Given the description of an element on the screen output the (x, y) to click on. 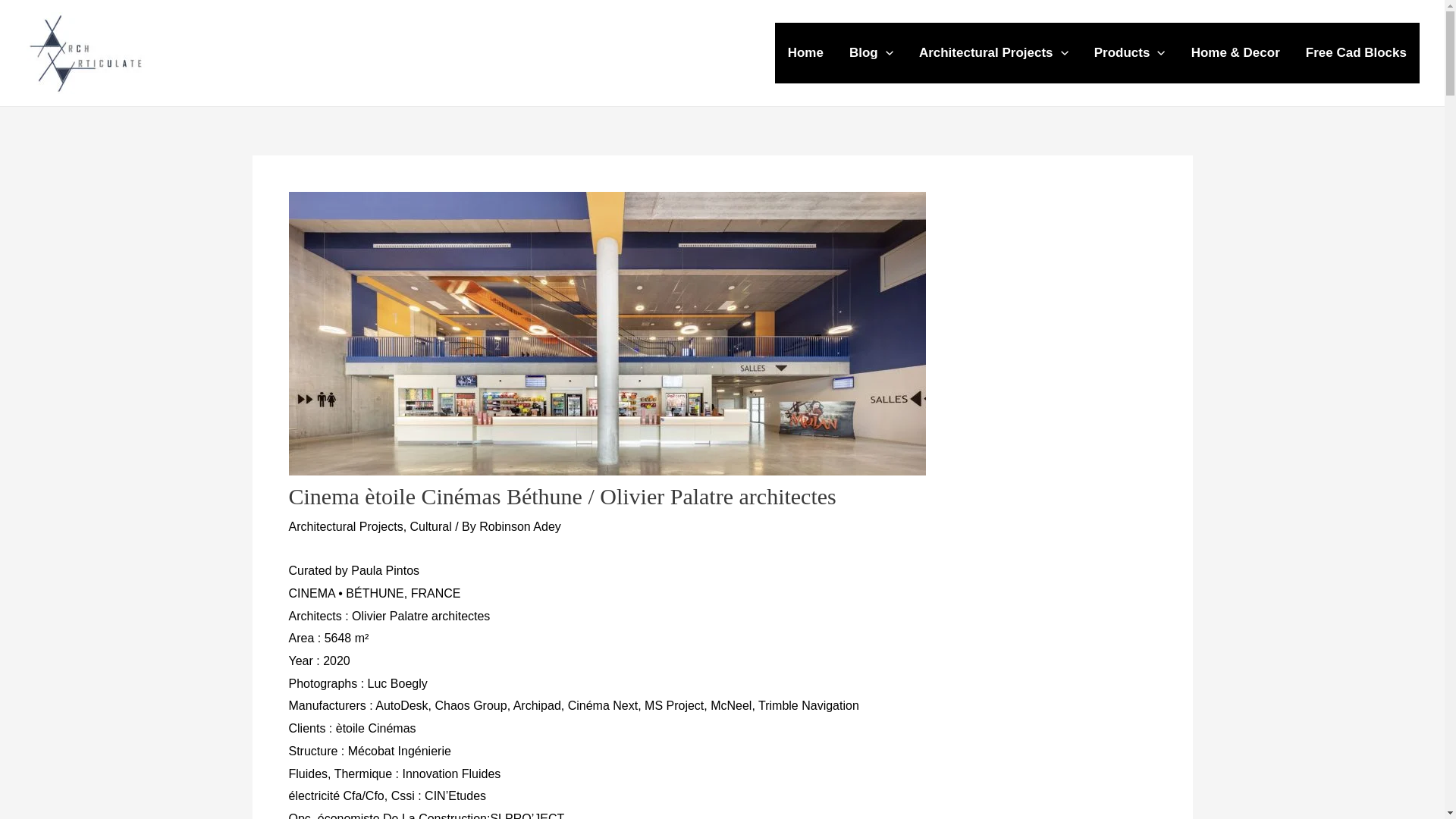
View all posts by Robinson Adey (519, 526)
Blog (870, 52)
Home (804, 52)
Products (1129, 52)
Free Cad Blocks (1355, 52)
Architectural Projects (993, 52)
